Given the description of an element on the screen output the (x, y) to click on. 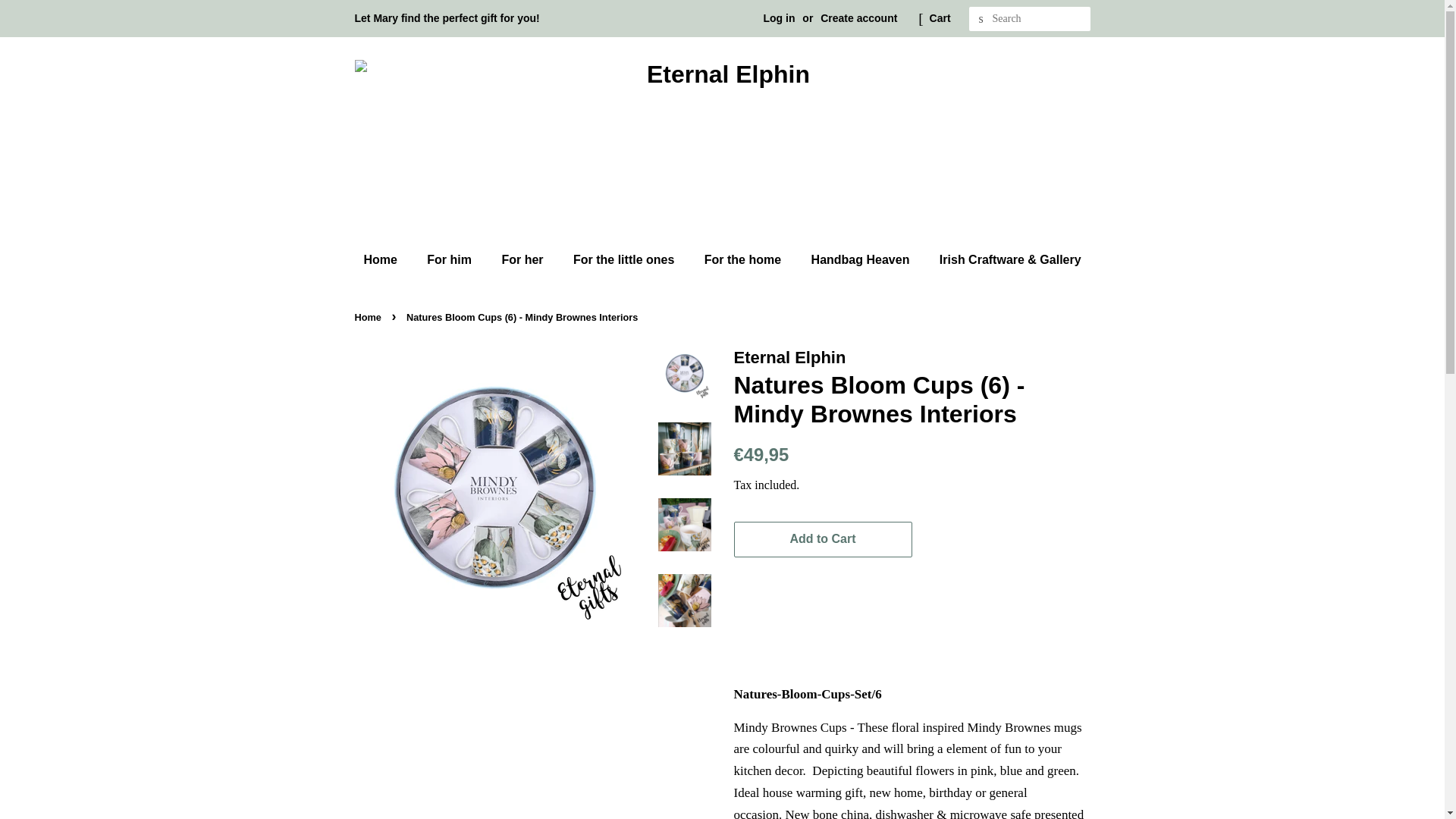
Home (370, 317)
For the little ones (625, 259)
Search (980, 18)
For her (523, 259)
Log in (778, 18)
Let Mary find the perfect gift for you! (447, 18)
Home (387, 259)
Cart (940, 18)
Create account (858, 18)
Handbag Heaven (861, 259)
